Given the description of an element on the screen output the (x, y) to click on. 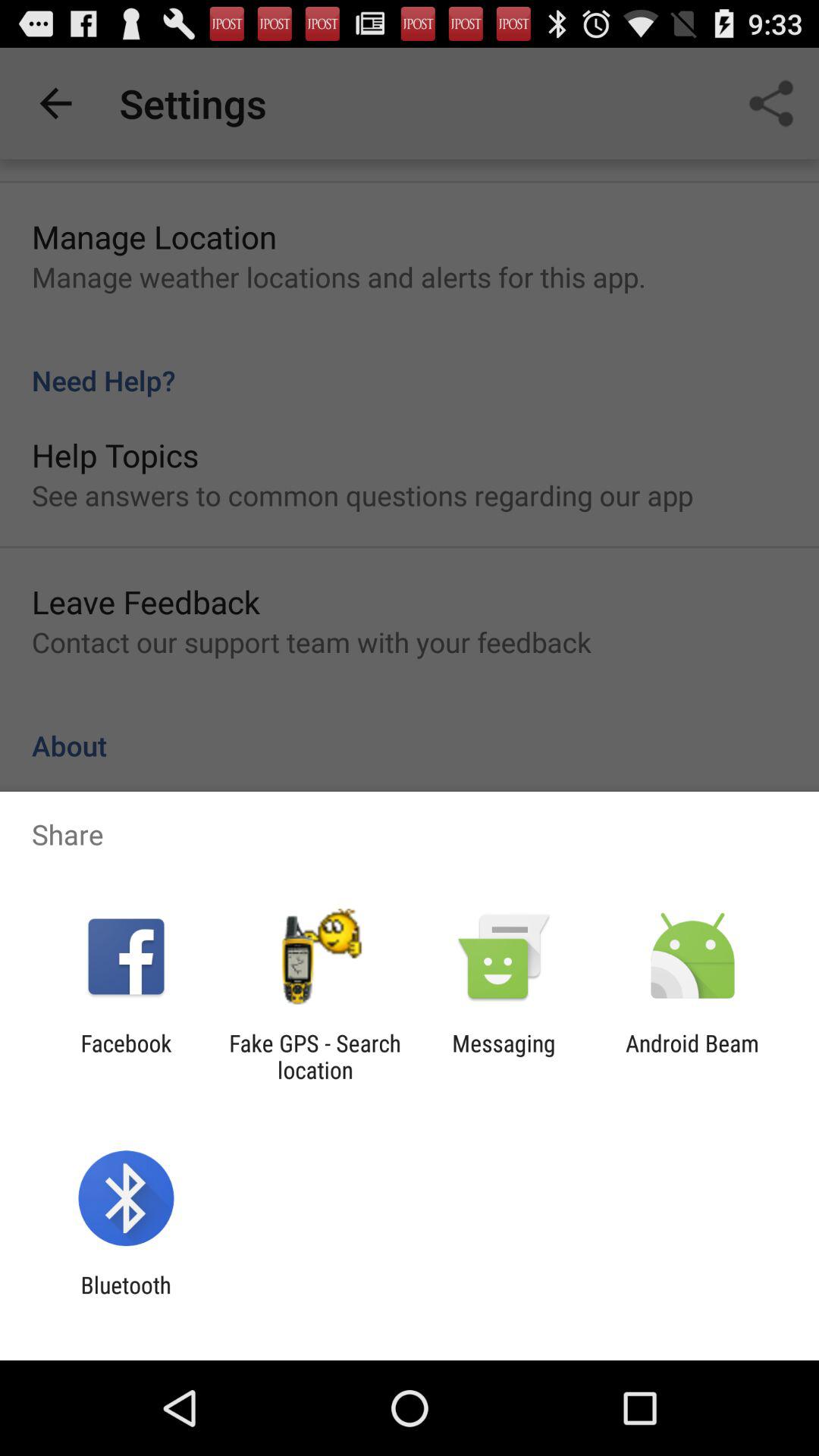
click app next to android beam icon (503, 1056)
